Given the description of an element on the screen output the (x, y) to click on. 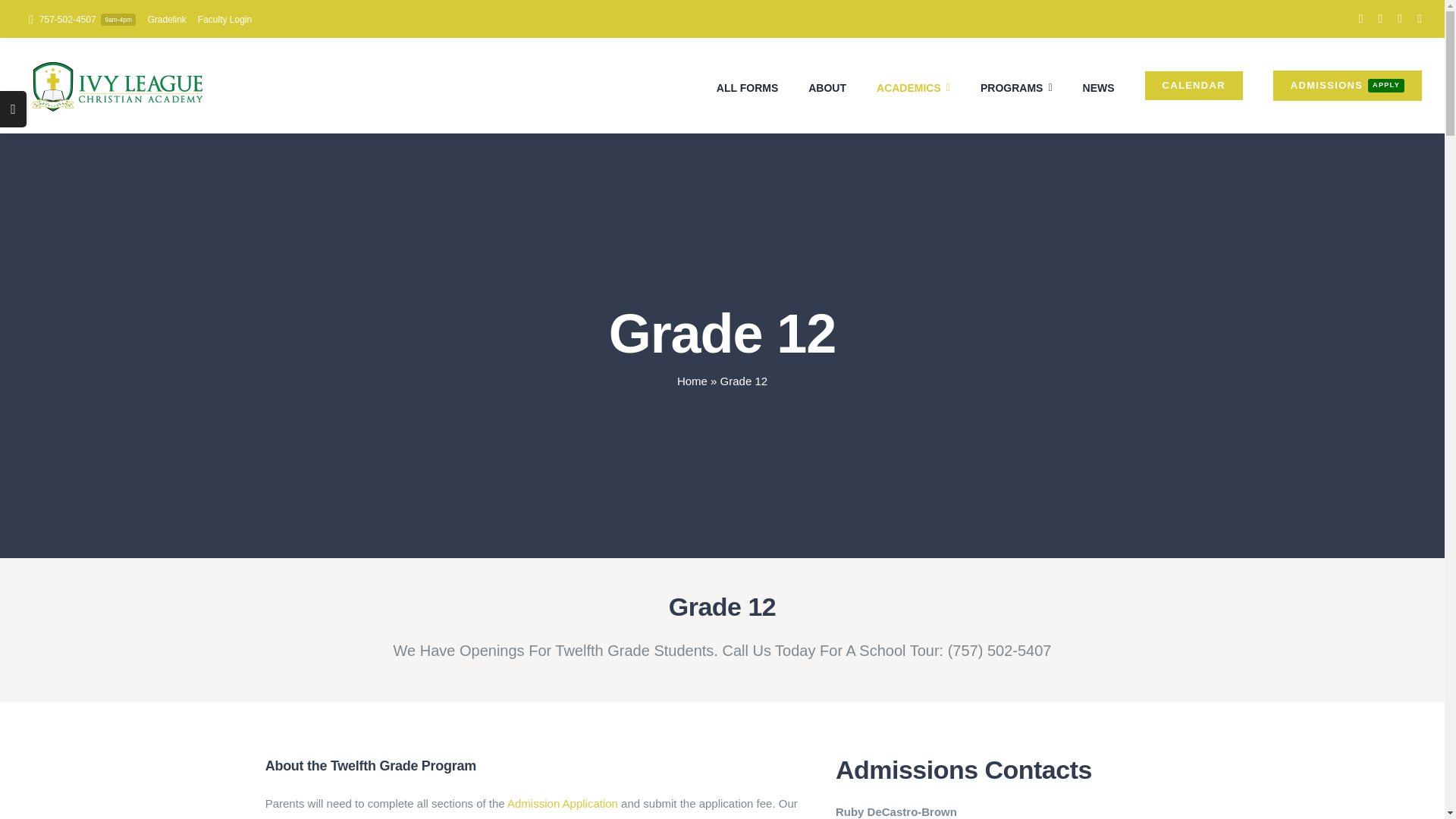
ACADEMICS (913, 85)
Faculty Login (224, 19)
ABOUT (826, 85)
Gradelink (166, 19)
ALL FORMS (746, 85)
